Given the description of an element on the screen output the (x, y) to click on. 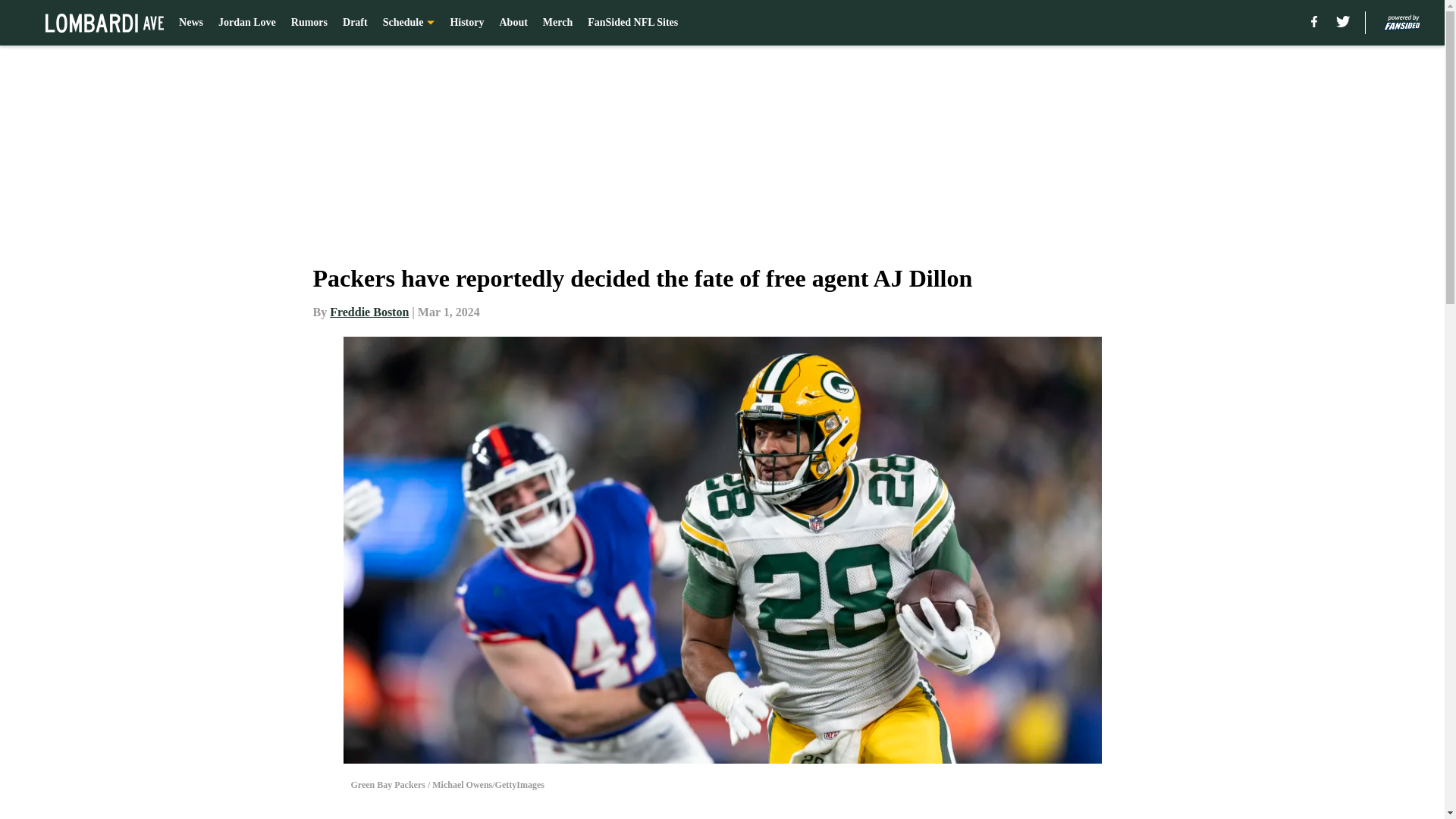
About (513, 22)
Rumors (309, 22)
Jordan Love (247, 22)
Draft (355, 22)
Merch (557, 22)
FanSided NFL Sites (633, 22)
Freddie Boston (369, 311)
News (191, 22)
History (466, 22)
